Given the description of an element on the screen output the (x, y) to click on. 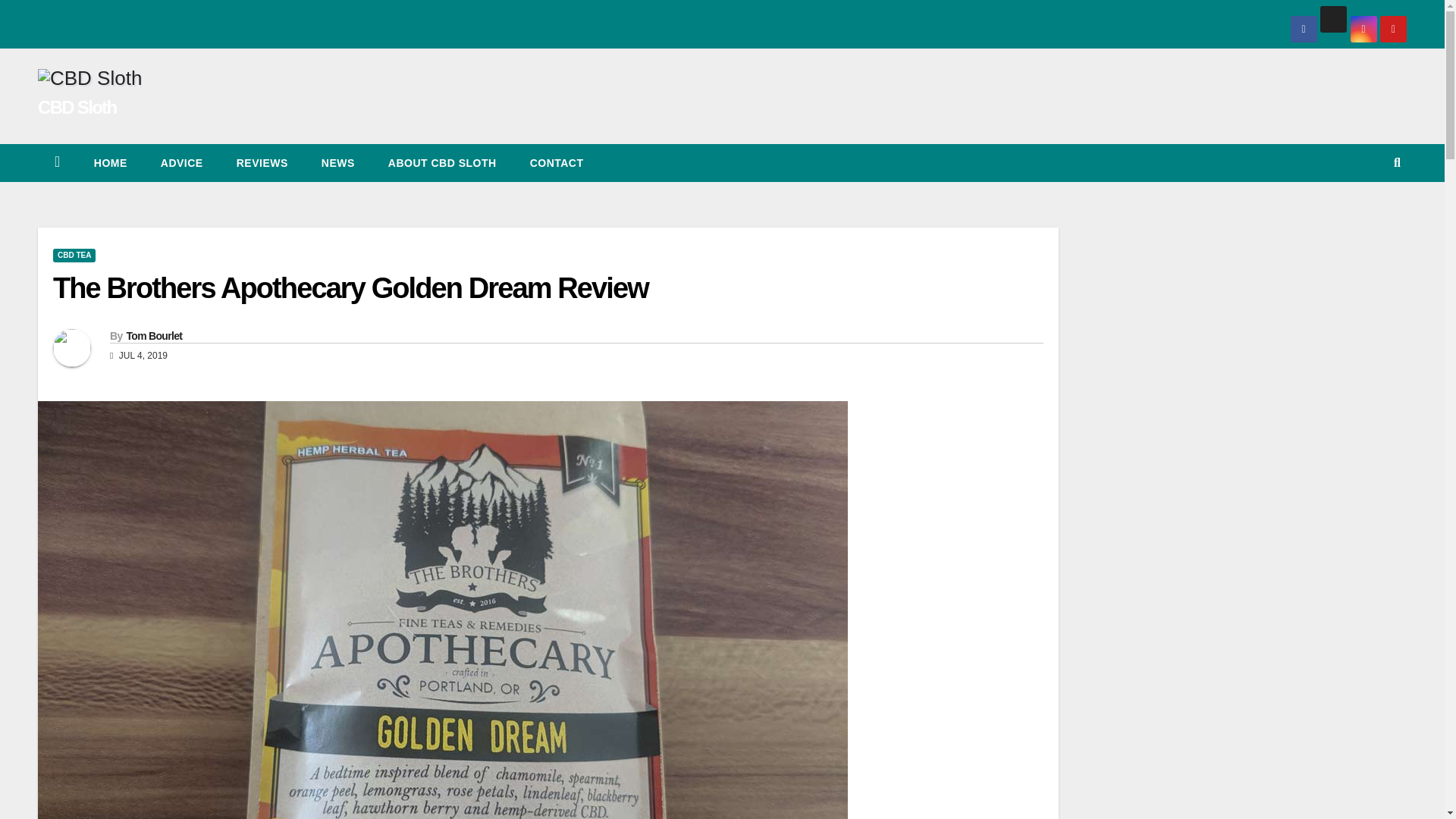
Reviews (261, 162)
Tom Bourlet (153, 336)
CBD TEA (74, 255)
CONTACT (556, 162)
REVIEWS (261, 162)
ADVICE (181, 162)
News (337, 162)
Home (110, 162)
ABOUT CBD SLOTH (442, 162)
About CBD Sloth (442, 162)
